Given the description of an element on the screen output the (x, y) to click on. 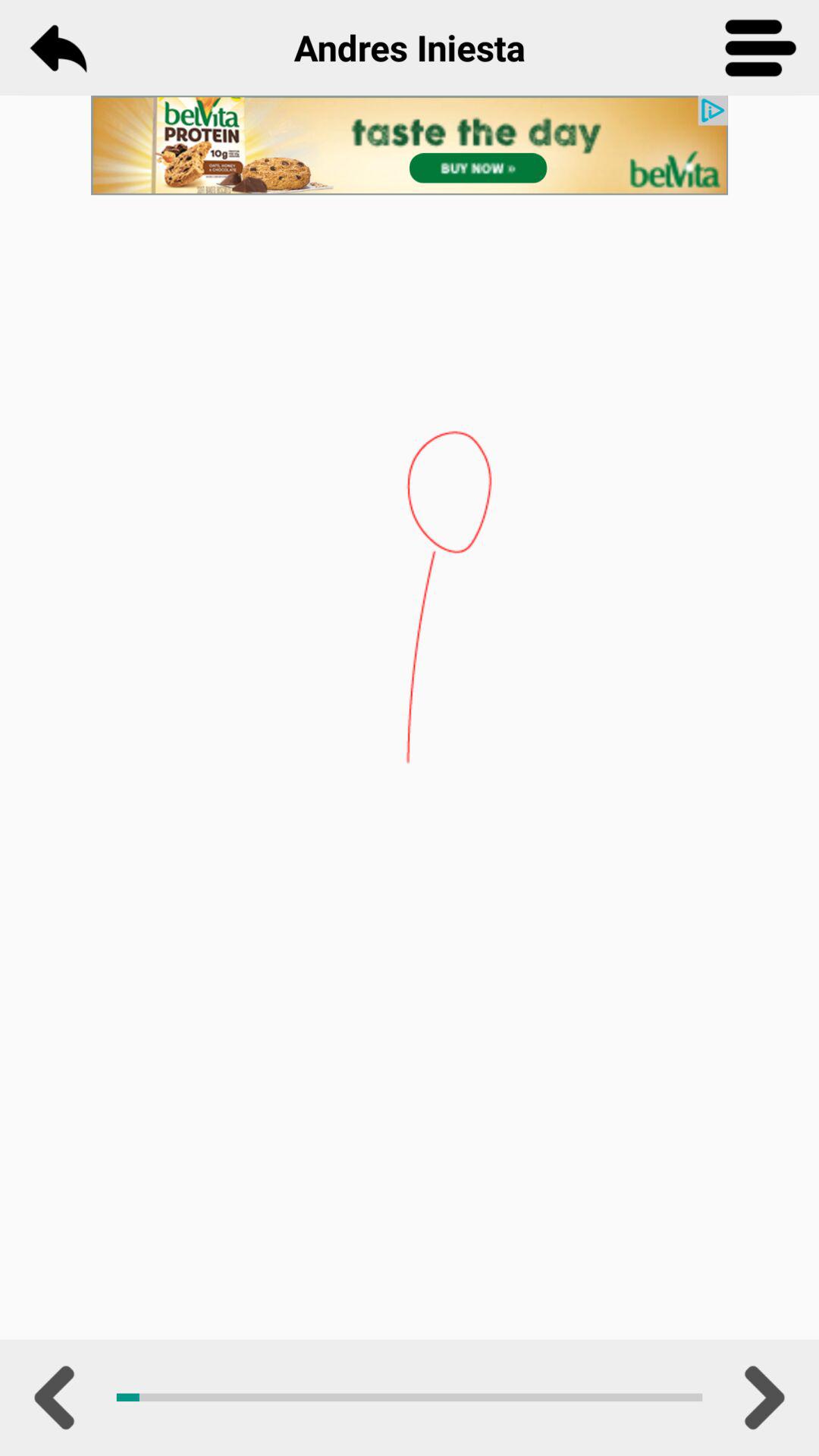
goto next (760, 1397)
